Given the description of an element on the screen output the (x, y) to click on. 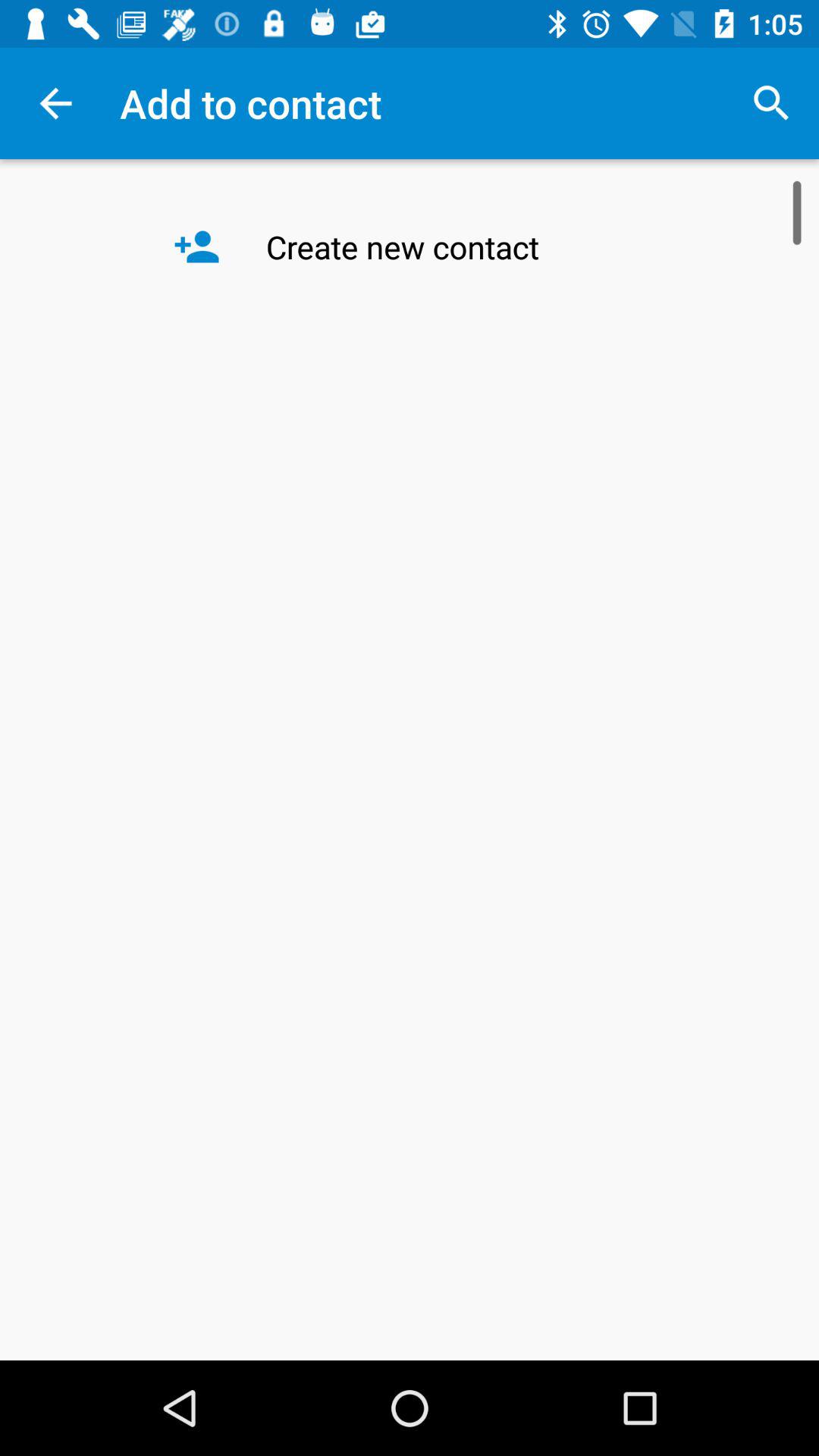
press icon above create new contact icon (771, 103)
